Given the description of an element on the screen output the (x, y) to click on. 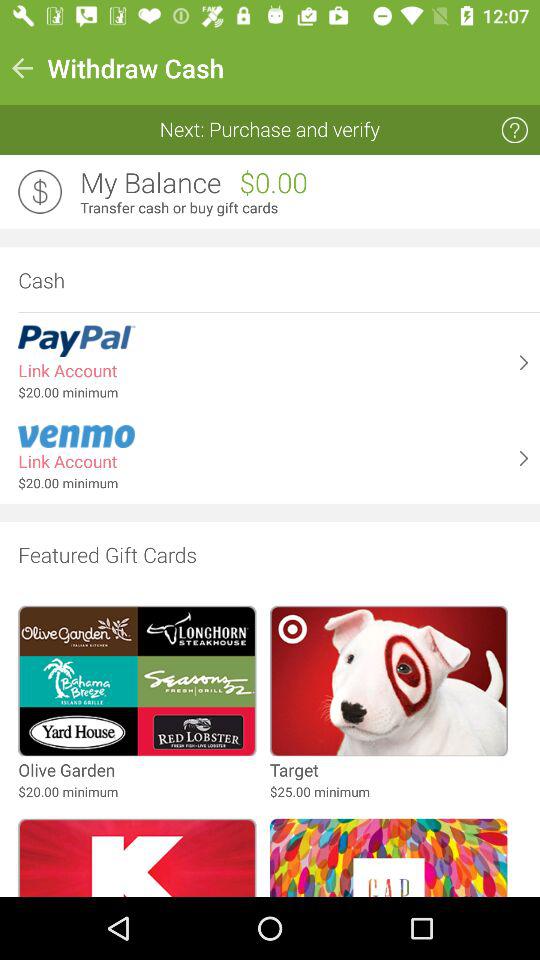
jump to olive garden (66, 770)
